Given the description of an element on the screen output the (x, y) to click on. 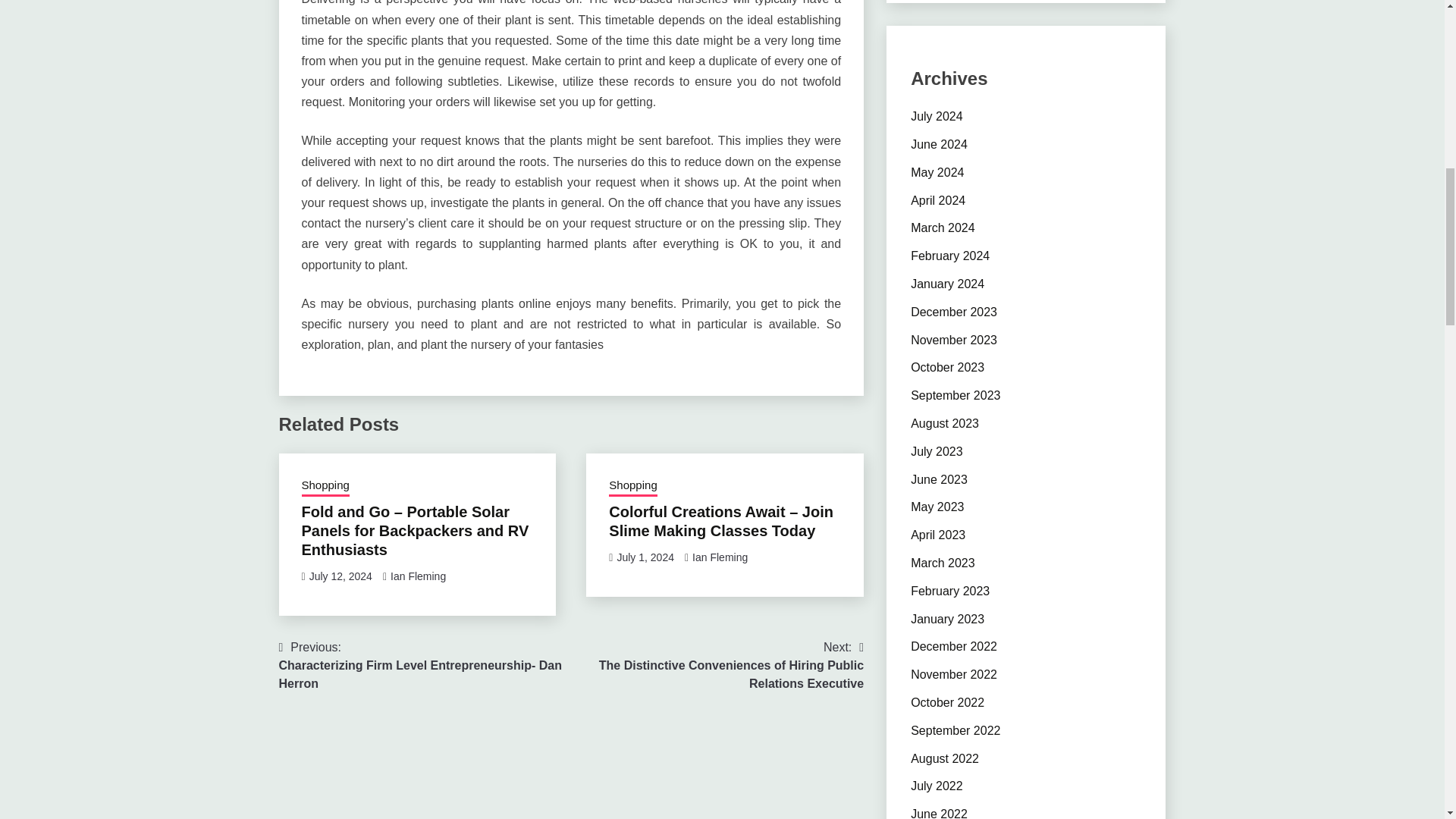
July 1, 2024 (644, 557)
June 2024 (939, 144)
Shopping (632, 486)
Ian Fleming (720, 557)
Shopping (325, 486)
July 2024 (936, 115)
July 12, 2024 (340, 576)
Ian Fleming (417, 576)
